Given the description of an element on the screen output the (x, y) to click on. 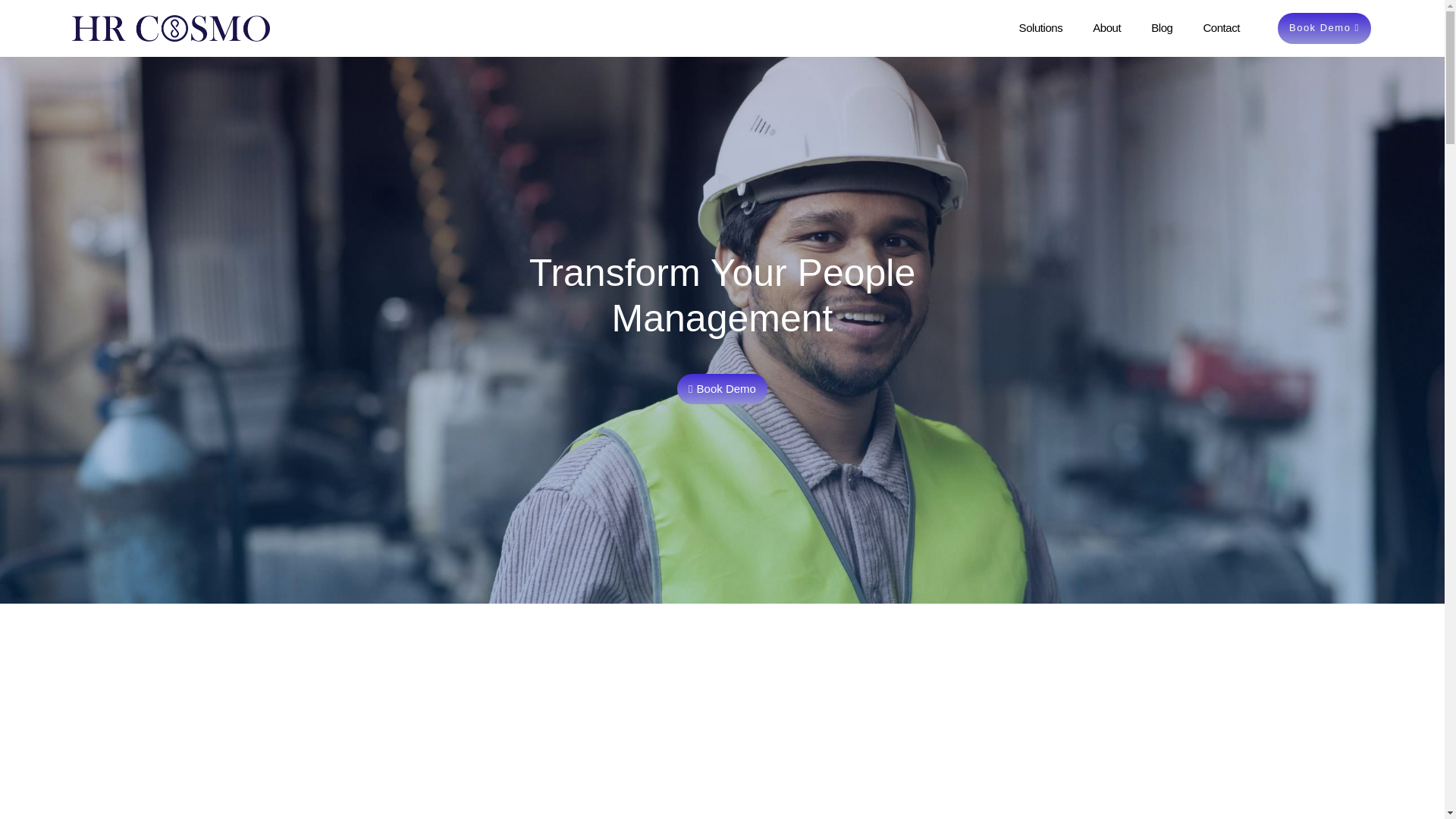
Contact (1221, 27)
Solutions (1040, 27)
Book Demo (1324, 28)
About (1106, 27)
Blog (1160, 27)
Book Demo (722, 388)
